Given the description of an element on the screen output the (x, y) to click on. 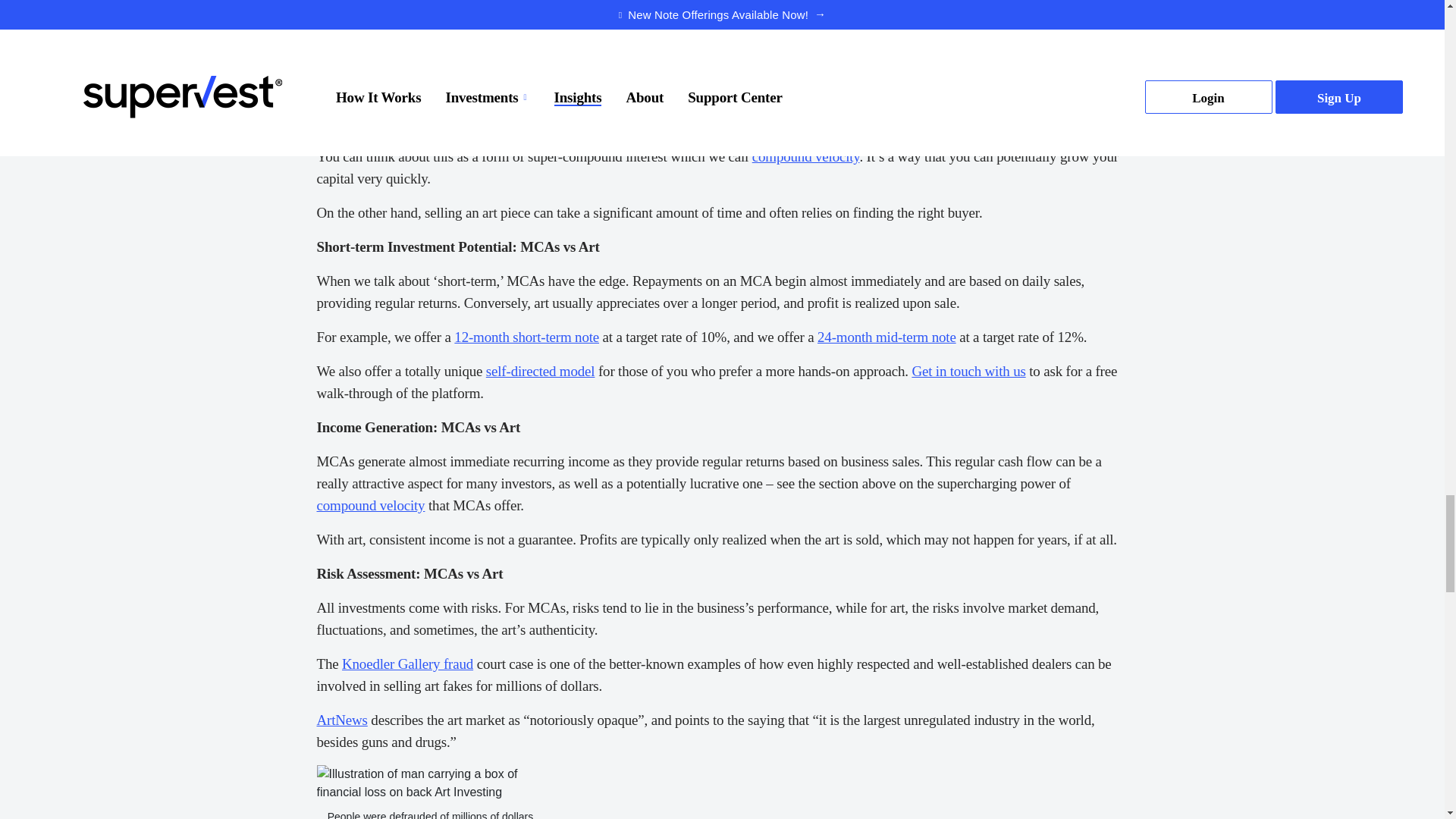
Get in touch with us (968, 371)
Knoedler Gallery fraud (407, 663)
12-month short-term note (526, 336)
self-directed model (540, 371)
ArtNews (342, 719)
compound velocity (371, 505)
24-month mid-term note (886, 336)
compound velocity (806, 156)
